Given the description of an element on the screen output the (x, y) to click on. 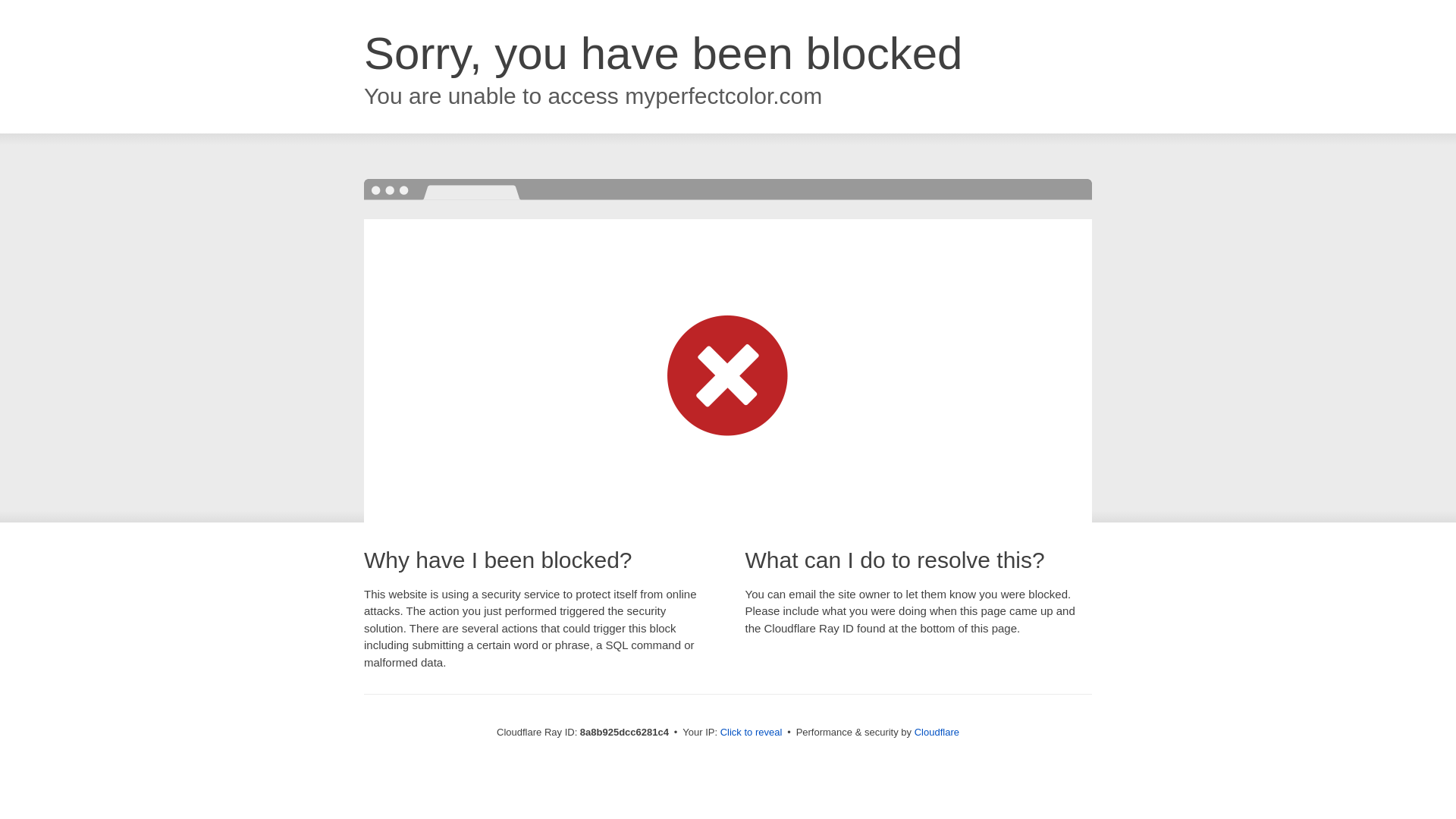
Cloudflare (936, 731)
Click to reveal (751, 732)
